Given the description of an element on the screen output the (x, y) to click on. 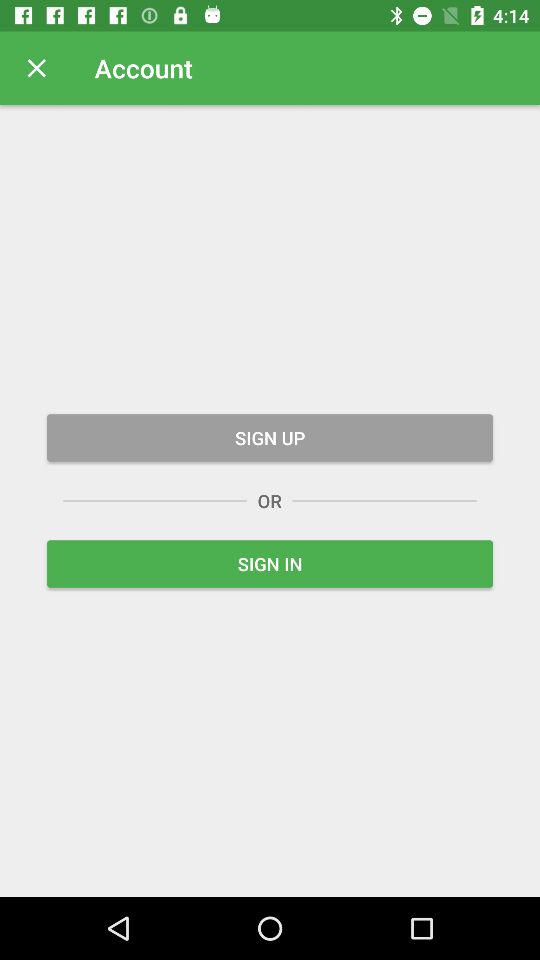
press the sign up icon (269, 437)
